Given the description of an element on the screen output the (x, y) to click on. 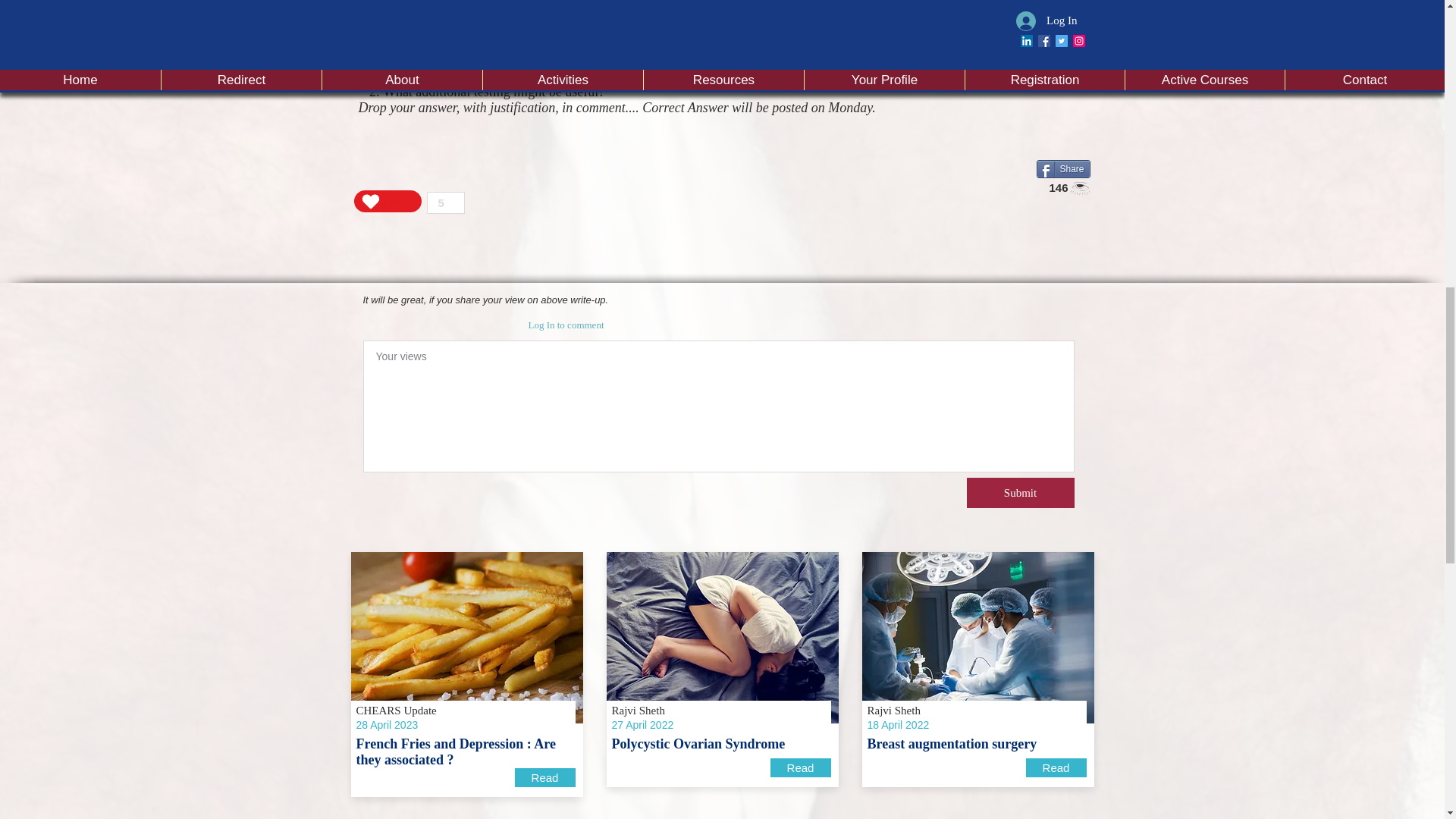
Like It (386, 201)
 French Fries and Depression : Are they associated ? (466, 637)
5 (445, 202)
Read (800, 767)
Read (544, 777)
Log In to comment (565, 324)
Breast augmentation surgery (977, 637)
Share (1062, 168)
Read (1055, 767)
Share (1062, 168)
